Given the description of an element on the screen output the (x, y) to click on. 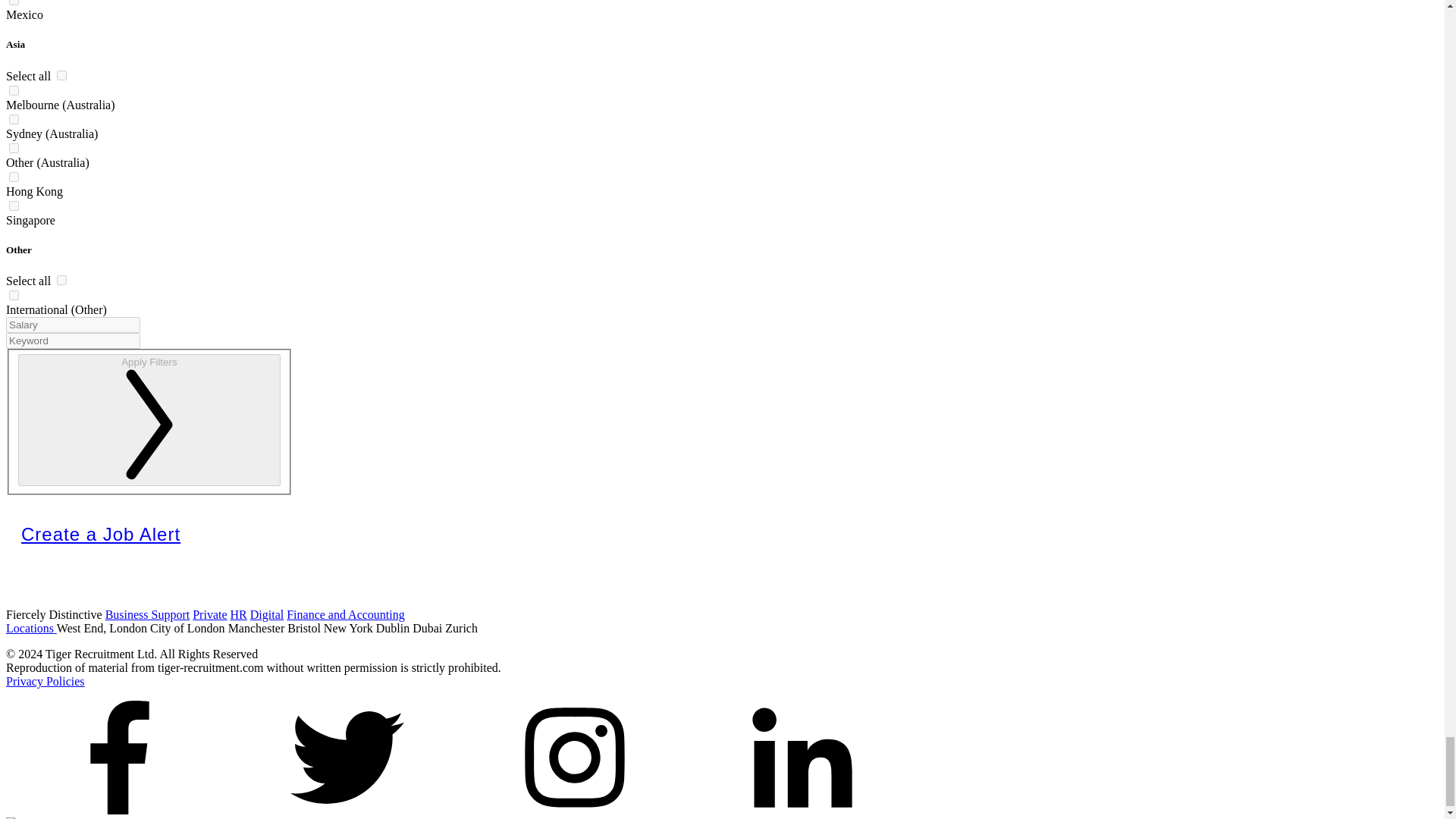
Instagram (574, 809)
LinkedIn (801, 809)
Facebook (118, 809)
Twitter (346, 809)
